Given the description of an element on the screen output the (x, y) to click on. 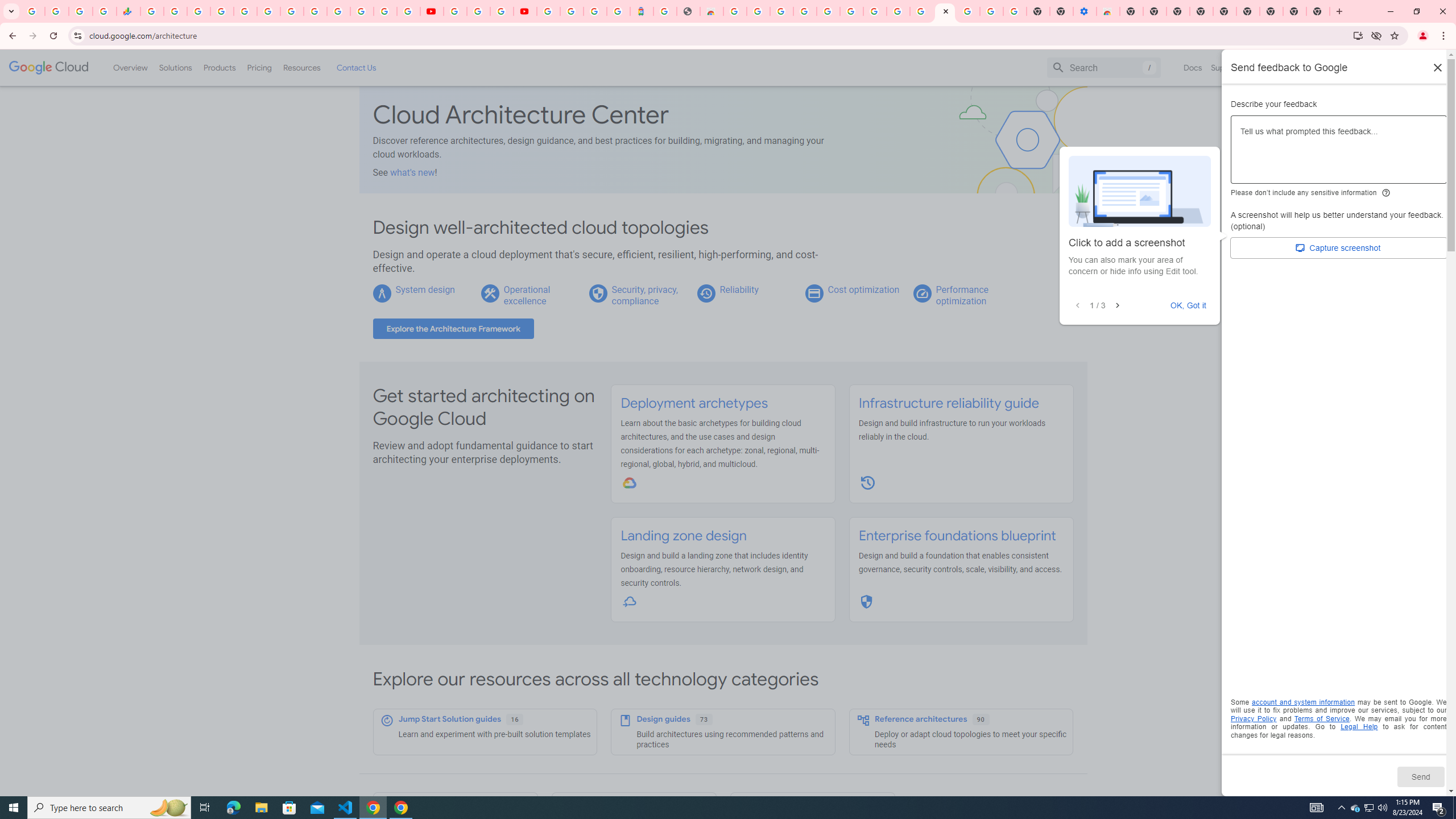
Google Account Help (992, 11)
Enterprise foundations blueprint (956, 535)
Start free (1405, 67)
Support (1225, 67)
Opens in a new tab. Privacy Policy (1253, 718)
Sign in - Google Accounts (968, 11)
Settings - Accessibility (1085, 11)
